Given the description of an element on the screen output the (x, y) to click on. 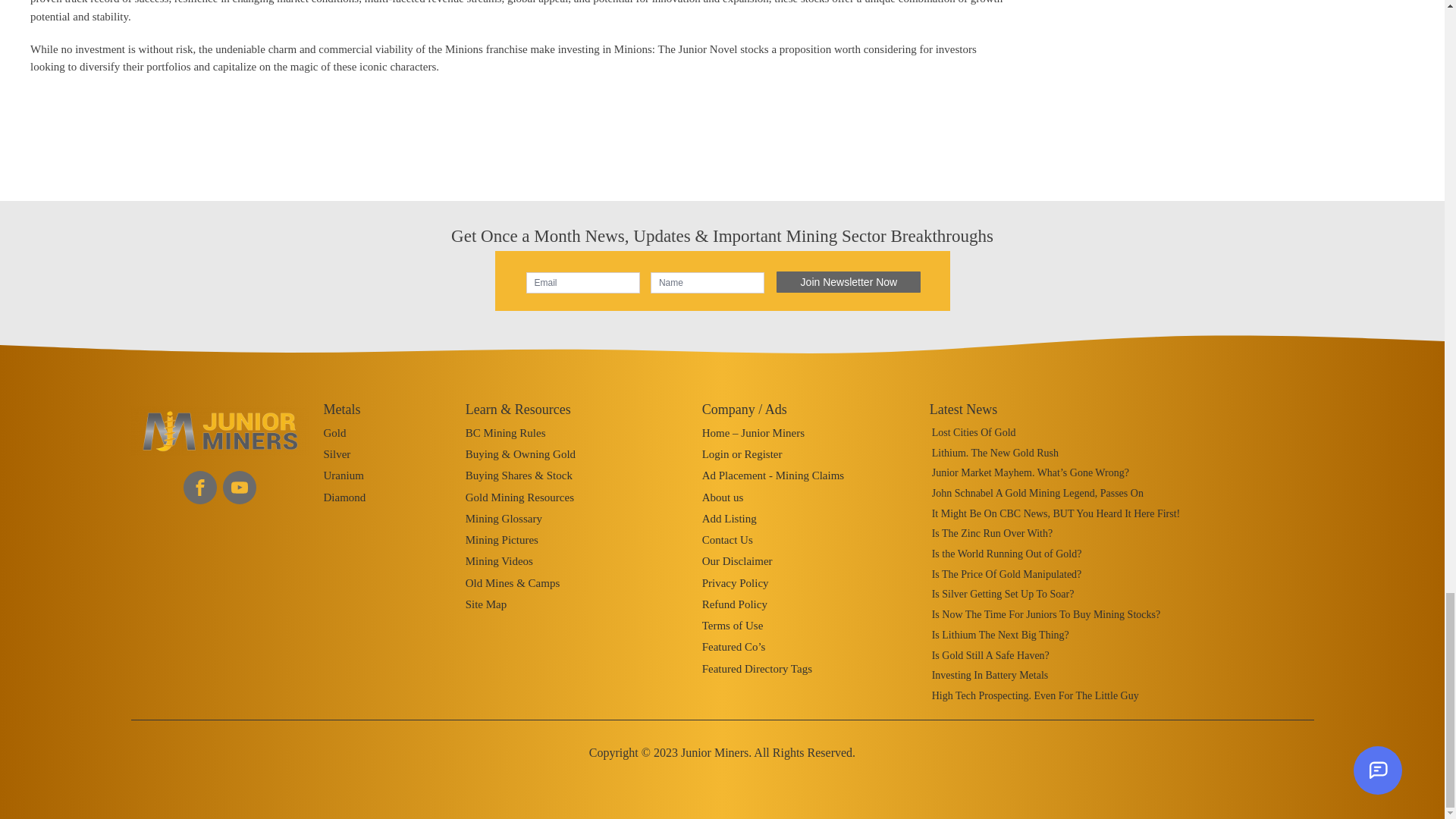
Join Newsletter Now (848, 281)
